Given the description of an element on the screen output the (x, y) to click on. 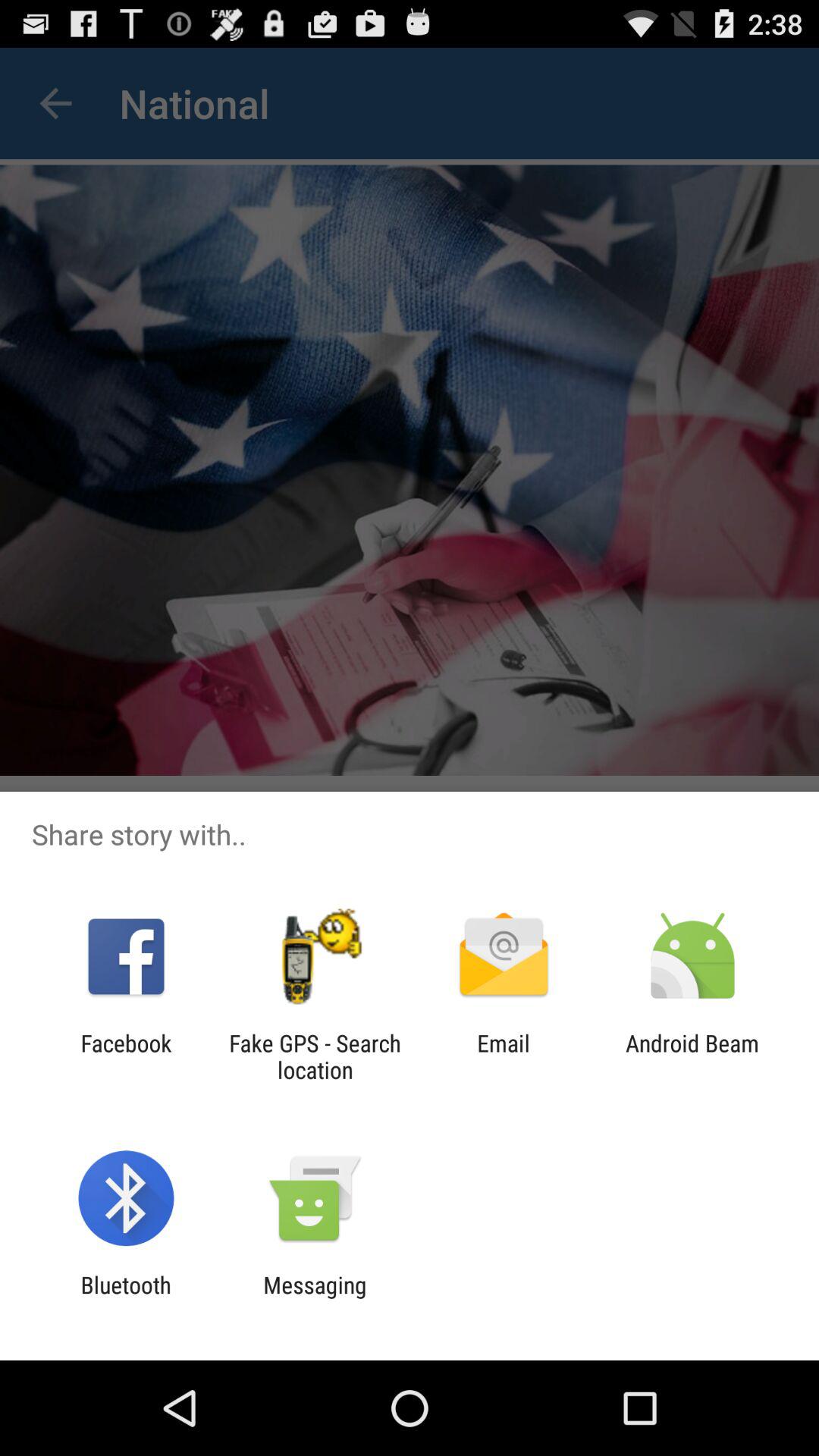
launch the icon to the left of android beam icon (503, 1056)
